Given the description of an element on the screen output the (x, y) to click on. 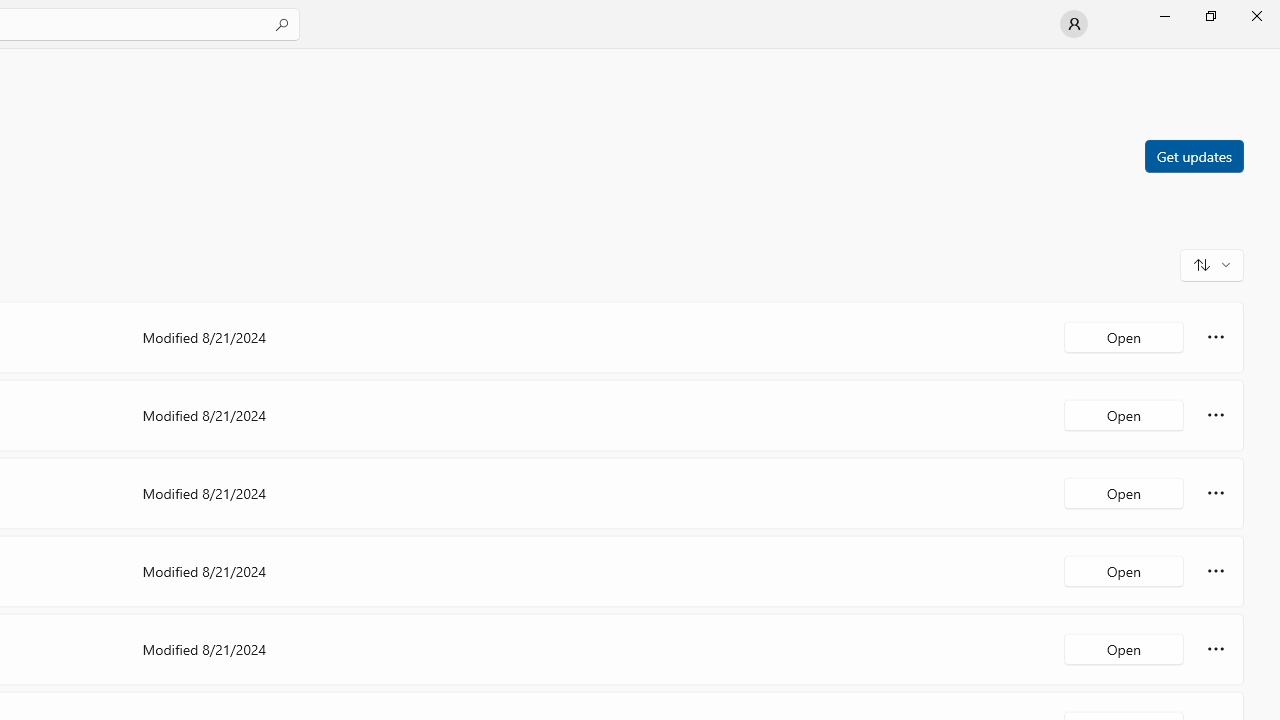
Get updates (1193, 155)
Sort and filter (1212, 263)
More options (1215, 648)
Open (1123, 648)
